Given the description of an element on the screen output the (x, y) to click on. 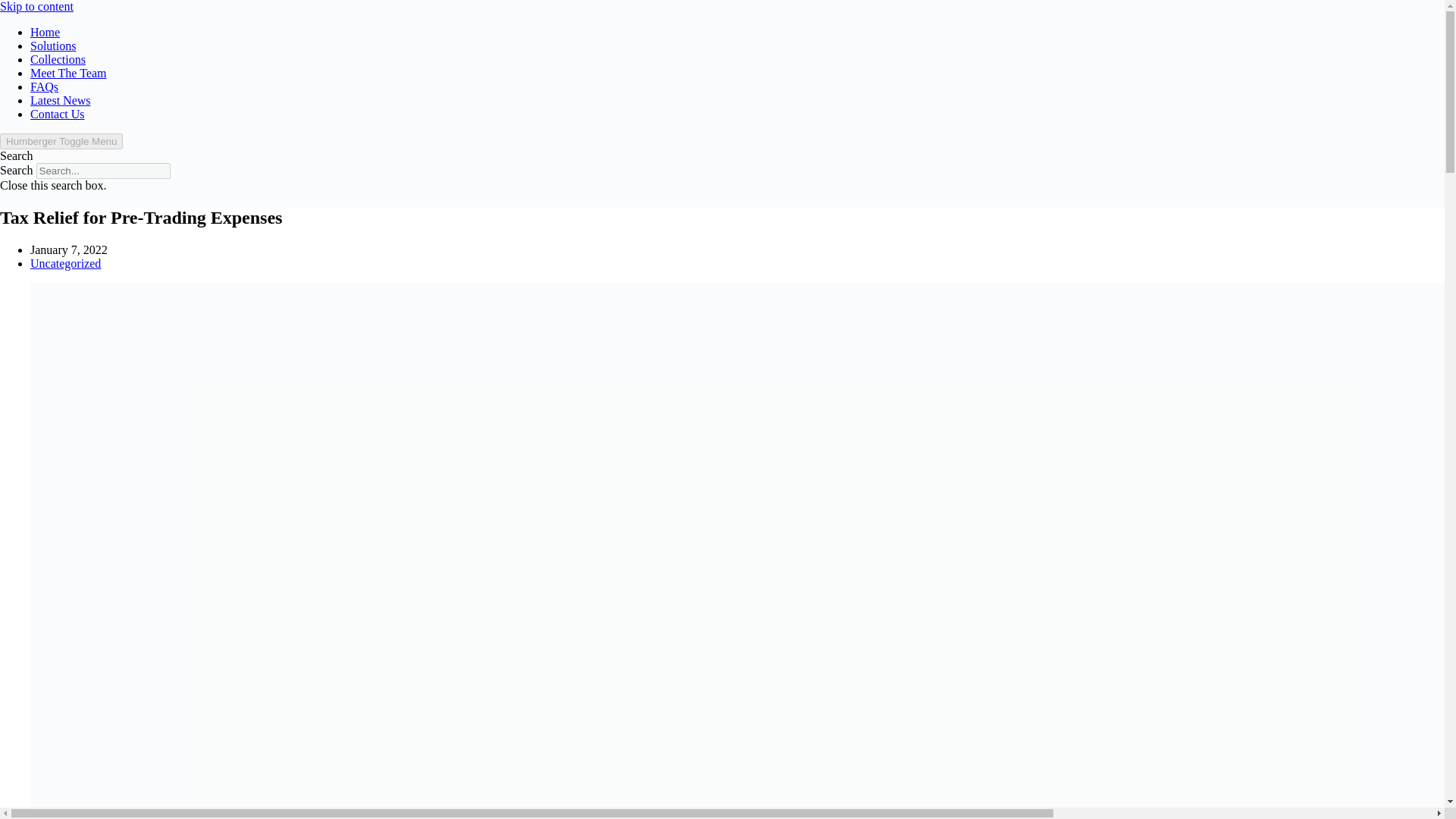
Uncategorized (65, 263)
Tax Relief for Pre-Trading Expenses (722, 218)
Latest News (60, 100)
Solutions (52, 45)
Skip to content (37, 6)
Collections (57, 59)
FAQs (44, 86)
Contact Us (57, 113)
Humberger Toggle Menu (61, 141)
Home (44, 31)
Meet The Team (68, 72)
